Given the description of an element on the screen output the (x, y) to click on. 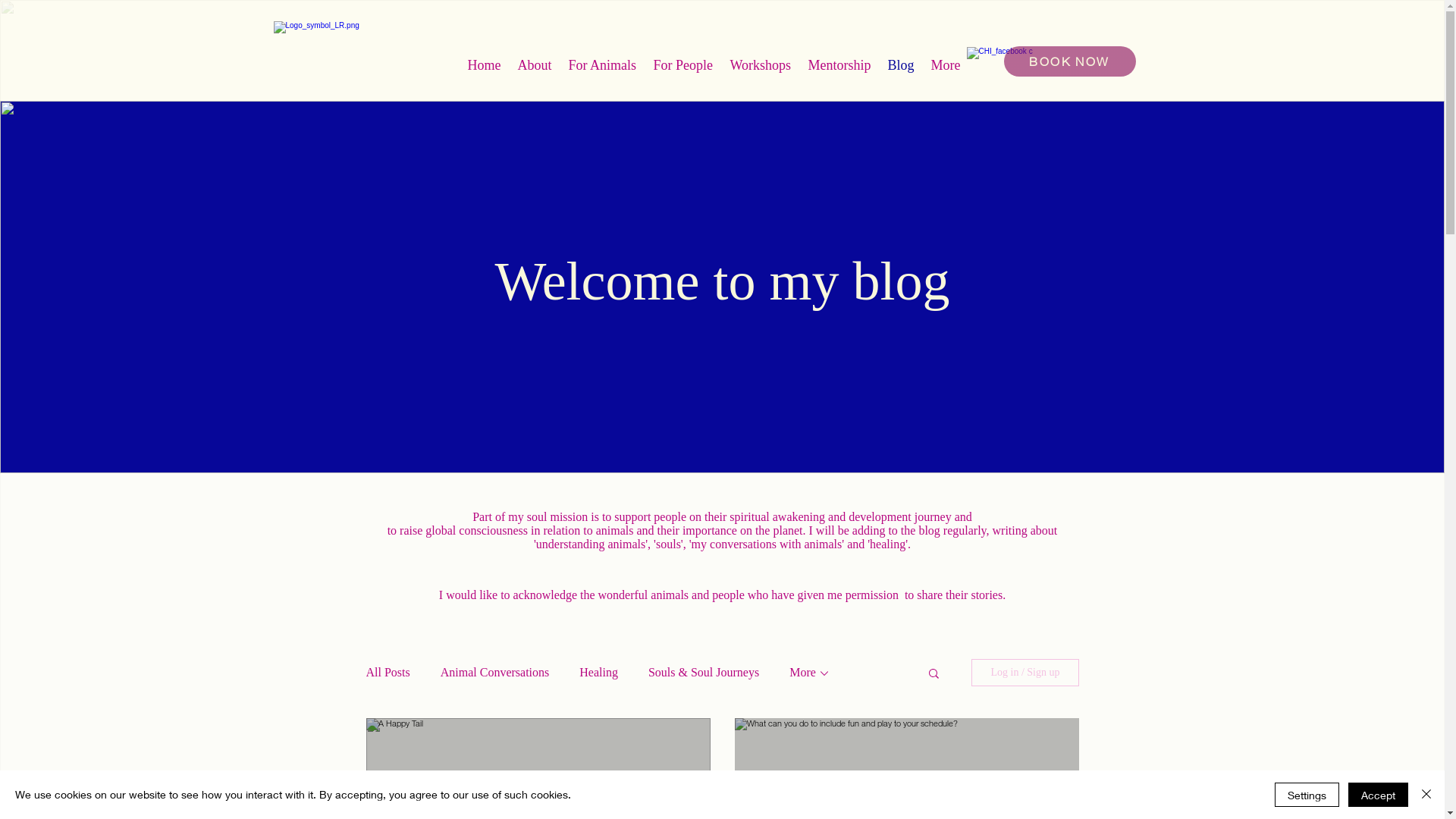
Healing Element type: text (598, 672)
Mentorship Element type: text (840, 65)
Accept Element type: text (1378, 794)
Blog Element type: text (900, 65)
Home Element type: text (484, 65)
Animal Conversations Element type: text (494, 672)
Log in / Sign up Element type: text (1024, 672)
Souls & Soul Journeys Element type: text (703, 672)
For People Element type: text (684, 65)
BOOK NOW Element type: text (1069, 61)
Workshops Element type: text (760, 65)
All Posts Element type: text (387, 672)
Settings Element type: text (1306, 794)
For Animals Element type: text (603, 65)
